Given the description of an element on the screen output the (x, y) to click on. 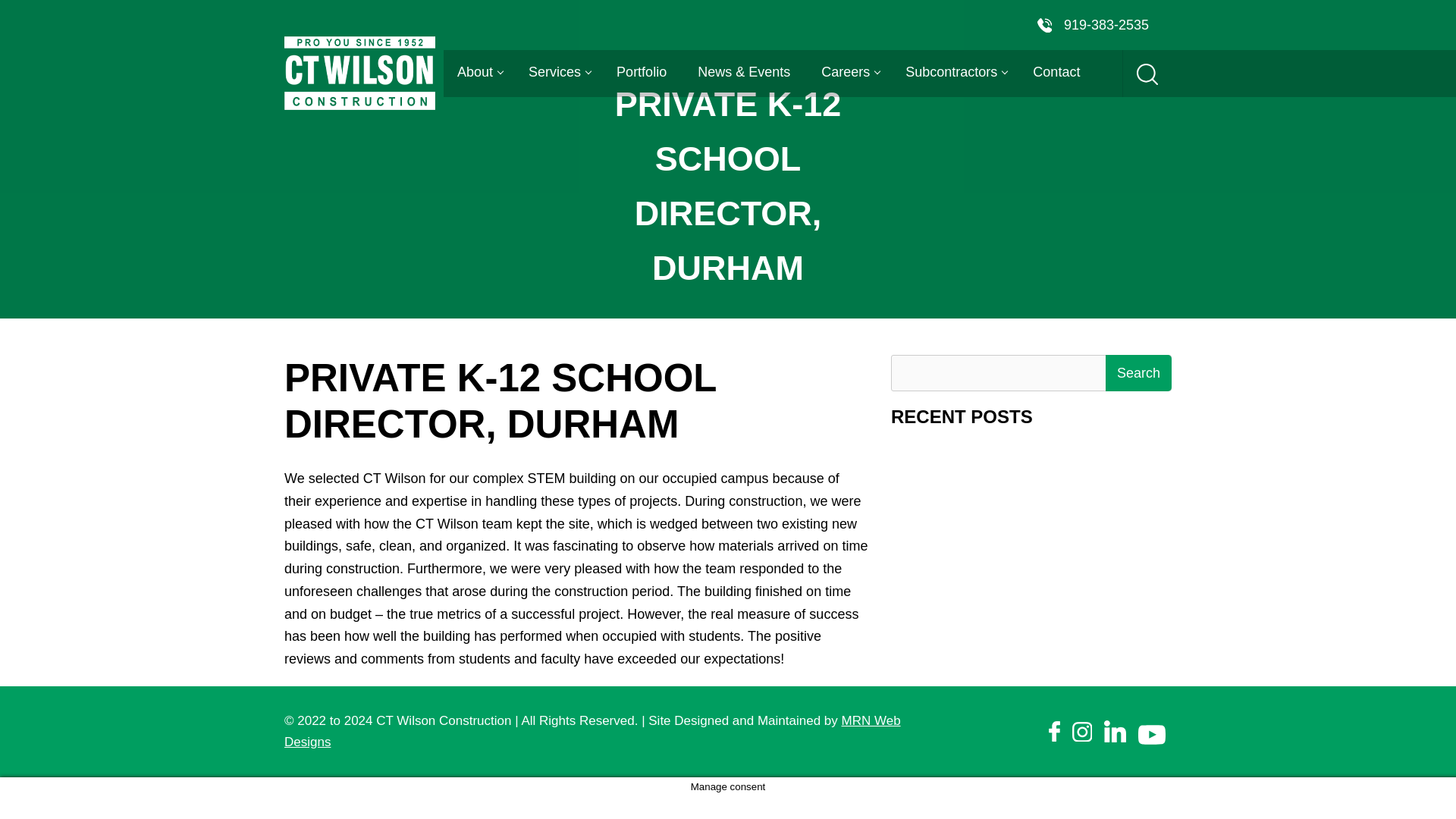
About (477, 72)
C.T. Wilson Construction (359, 72)
Home (574, 324)
Contact (1056, 72)
Portfolio (640, 72)
Services (556, 72)
Search (1138, 372)
919-383-2535 (1092, 25)
Careers (848, 72)
Subcontractors (952, 72)
